Given the description of an element on the screen output the (x, y) to click on. 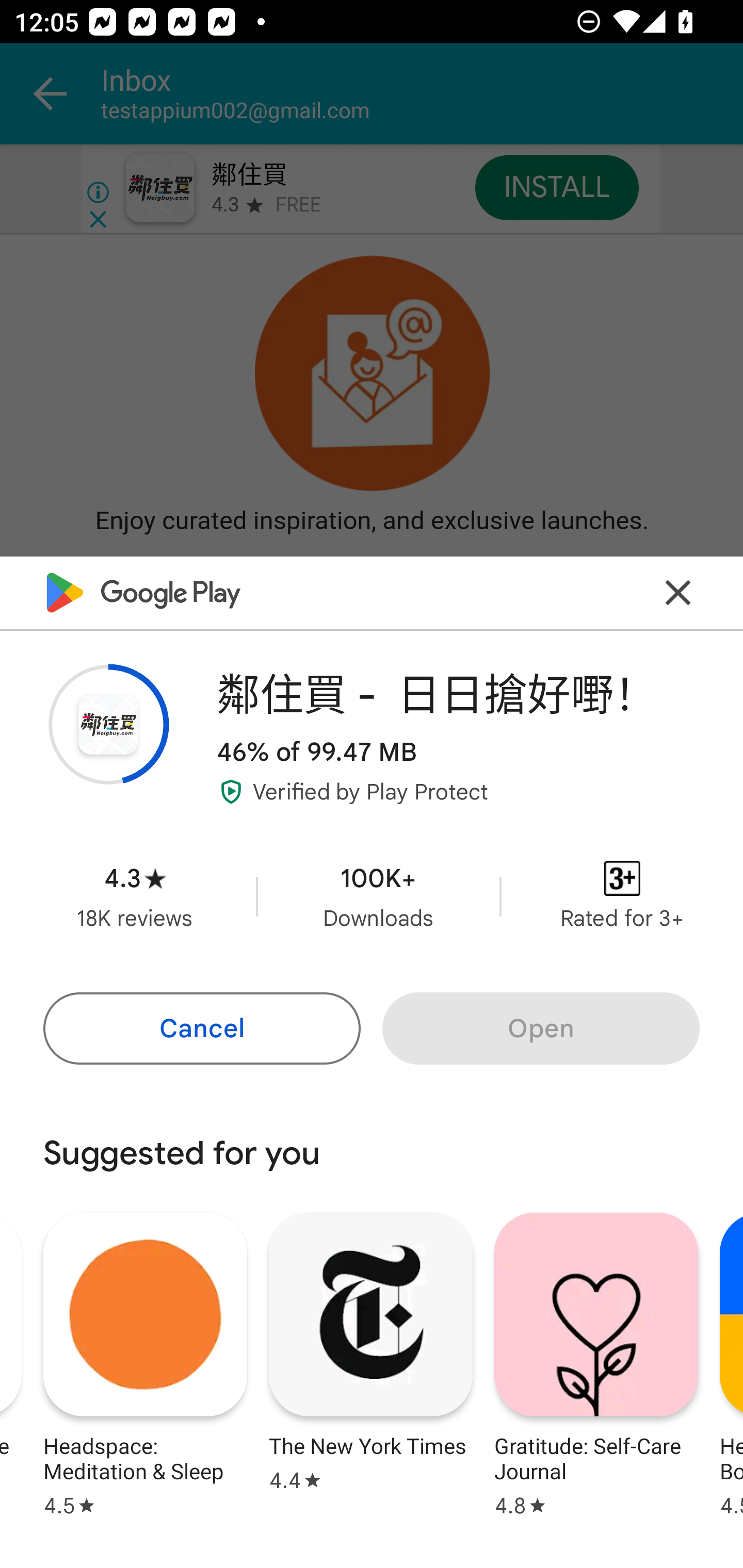
Close (677, 592)
Image of app or game icon for 鄰住買 -  日日搶好嘢！ (108, 724)
Cancel (201, 1028)
App: The New York Times
Star rating: 4.4


 (370, 1362)
